Given the description of an element on the screen output the (x, y) to click on. 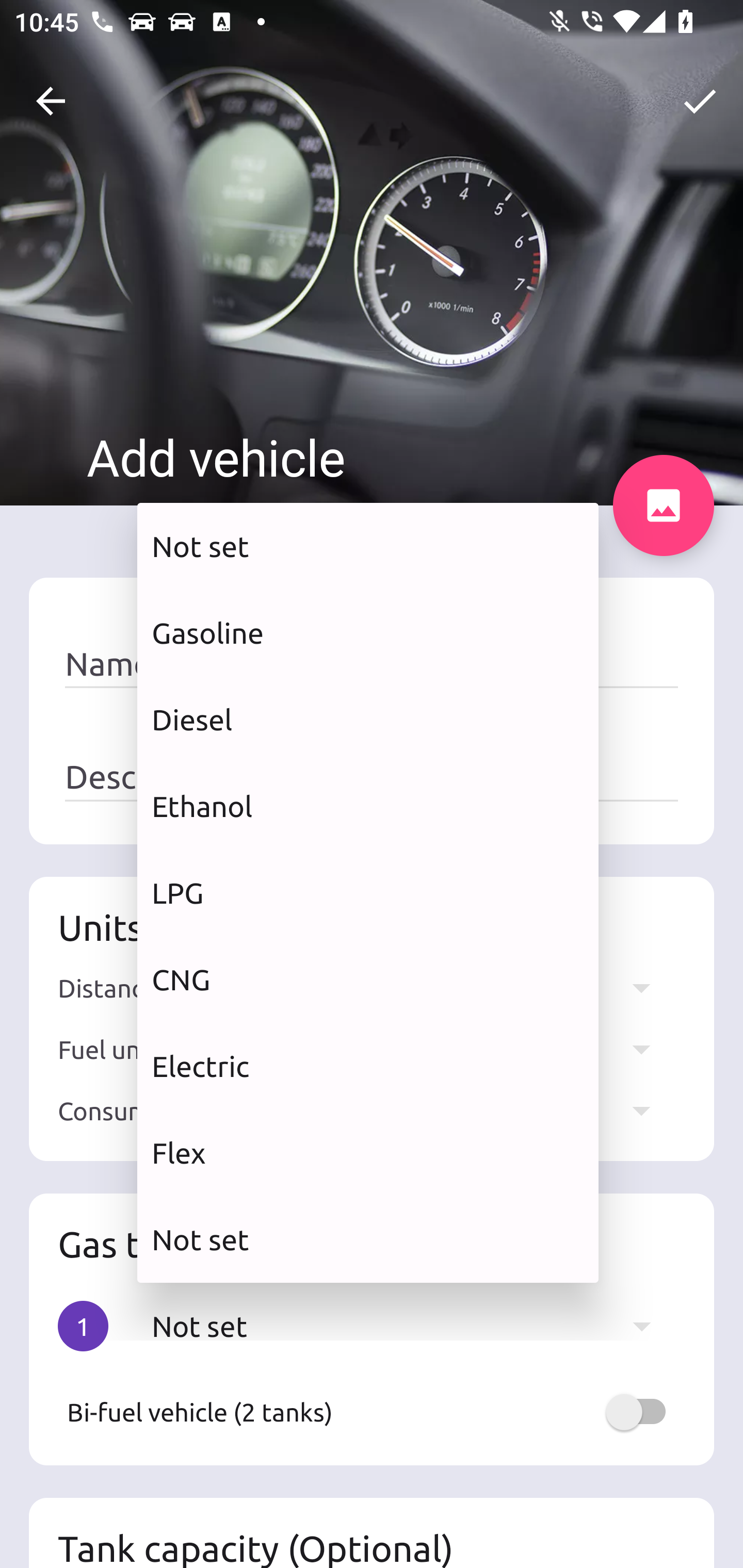
Not set (367, 546)
Gasoline (367, 632)
Diesel (367, 719)
Ethanol (367, 806)
LPG (367, 892)
CNG (367, 979)
Electric (367, 1066)
Flex (367, 1153)
Not set (367, 1239)
